Given the description of an element on the screen output the (x, y) to click on. 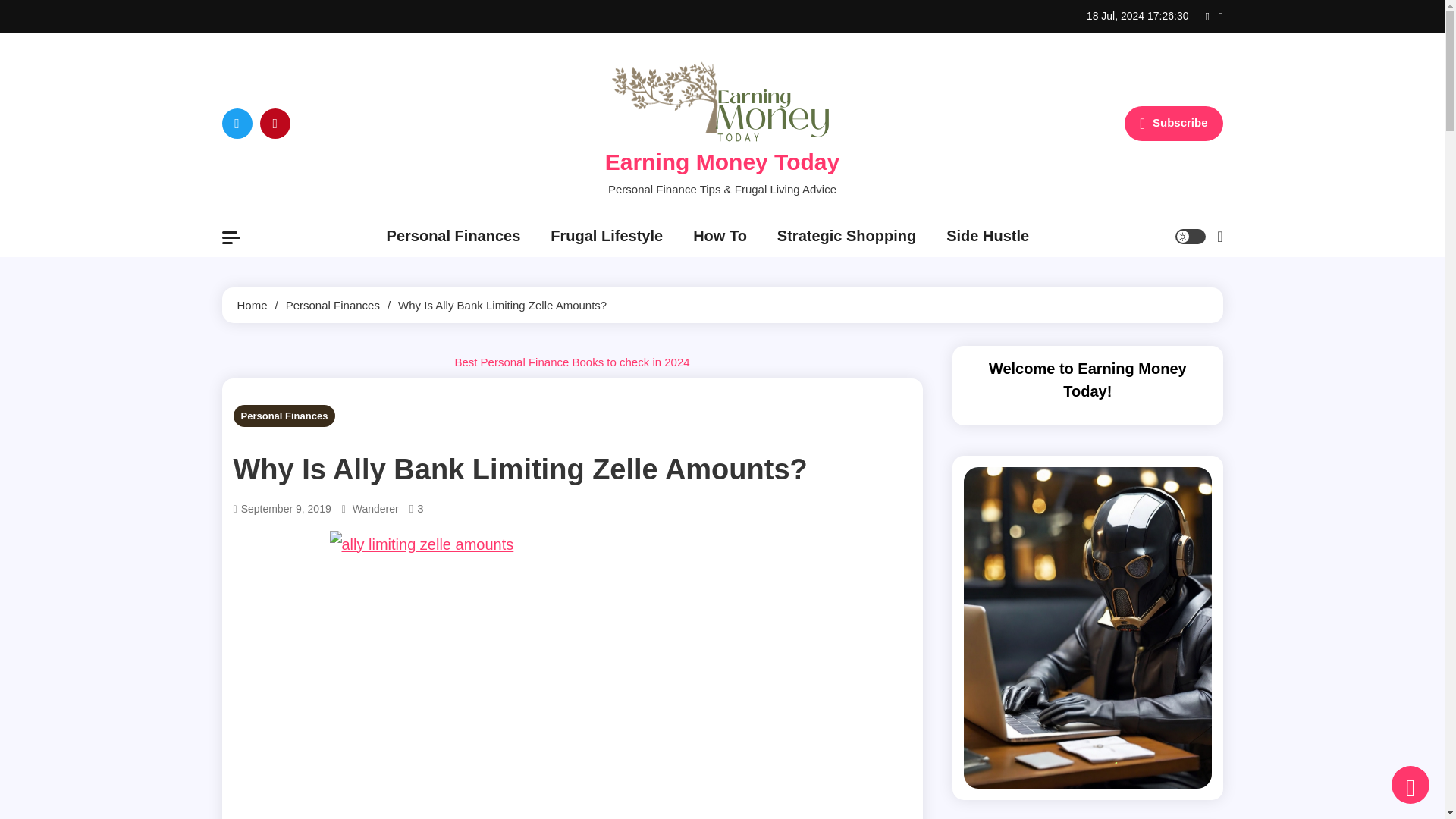
Strategic Shopping (846, 236)
Personal Finances (284, 415)
Home (250, 305)
September 9, 2019 (286, 508)
Frugal Lifestyle (606, 236)
Best Personal Finance Books to check in 2024 (571, 361)
Earning Money Today (722, 161)
Personal Finances (453, 236)
Side Hustle (987, 236)
How To (719, 236)
Subscribe (1173, 123)
Wanderer (375, 508)
Personal Finances (332, 305)
site mode button (1189, 236)
Search (1180, 293)
